Given the description of an element on the screen output the (x, y) to click on. 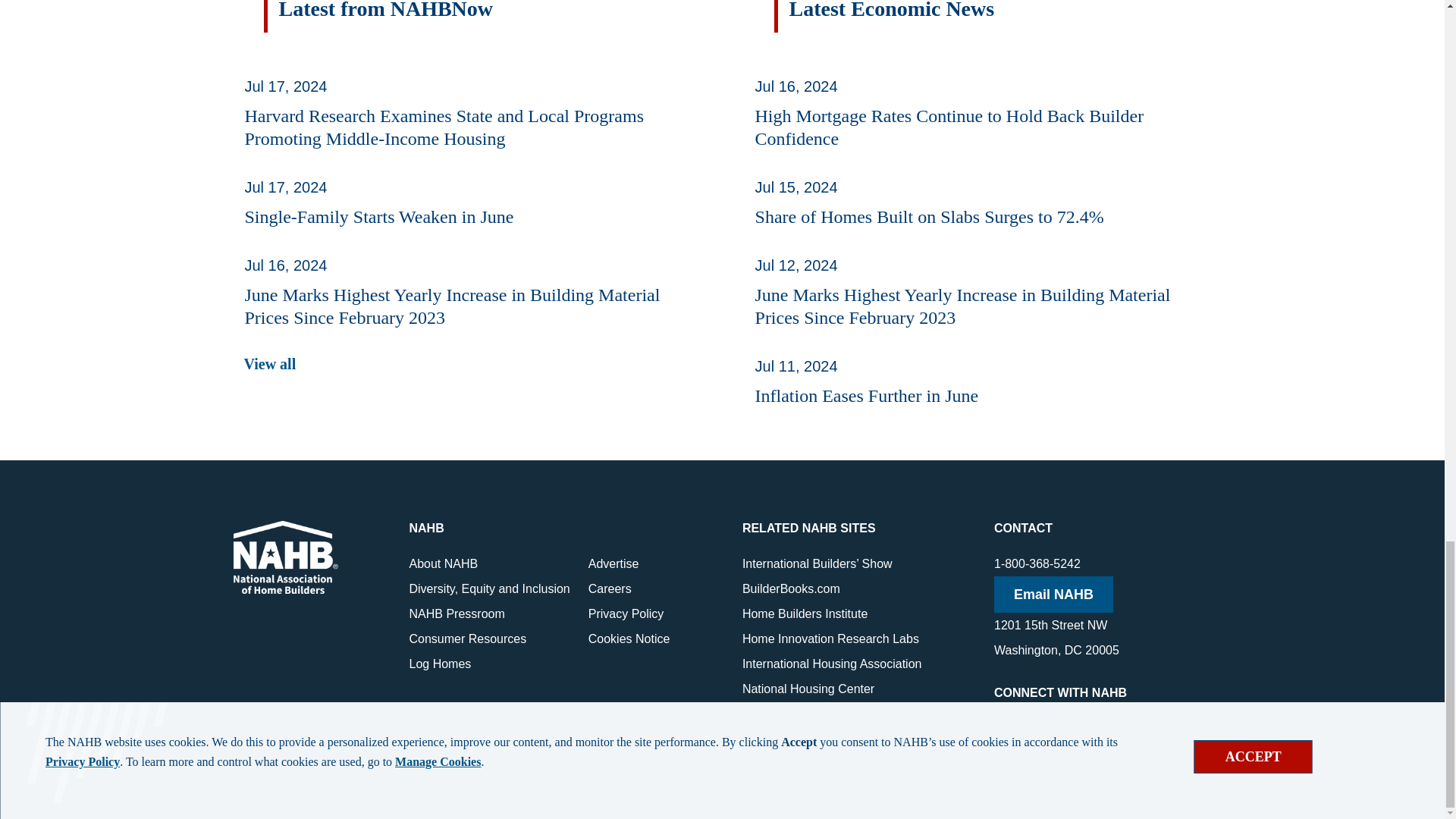
Log Homes (440, 663)
Opens a page (489, 588)
Opens a page (270, 363)
